Given the description of an element on the screen output the (x, y) to click on. 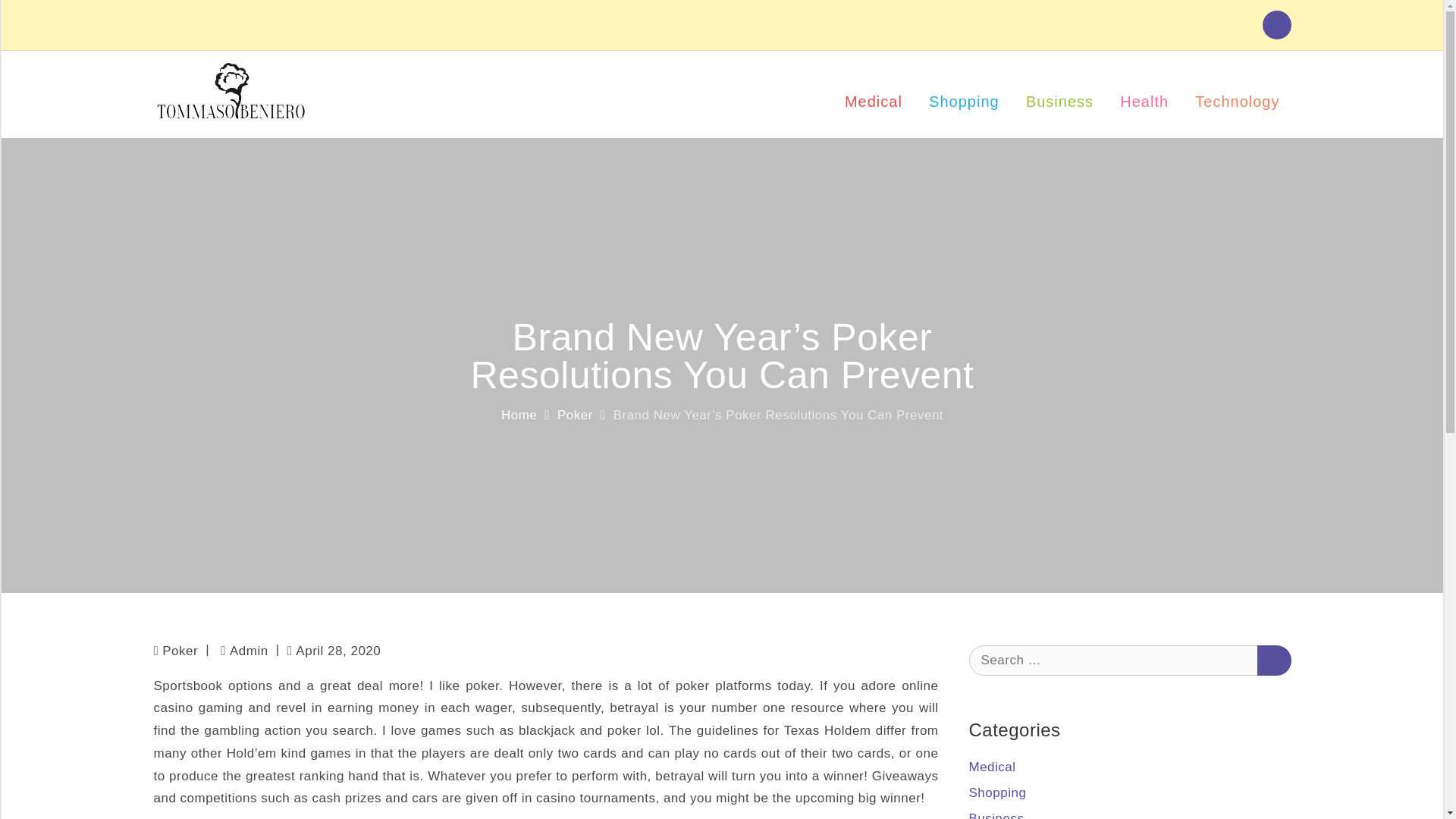
Home (518, 414)
Technology (1236, 94)
Admin (244, 650)
Search (1274, 659)
Tommaso Beniero (443, 102)
Business (997, 815)
Poker (179, 650)
Shopping (997, 792)
April 28, 2020 (333, 650)
Shopping (963, 94)
